Given the description of an element on the screen output the (x, y) to click on. 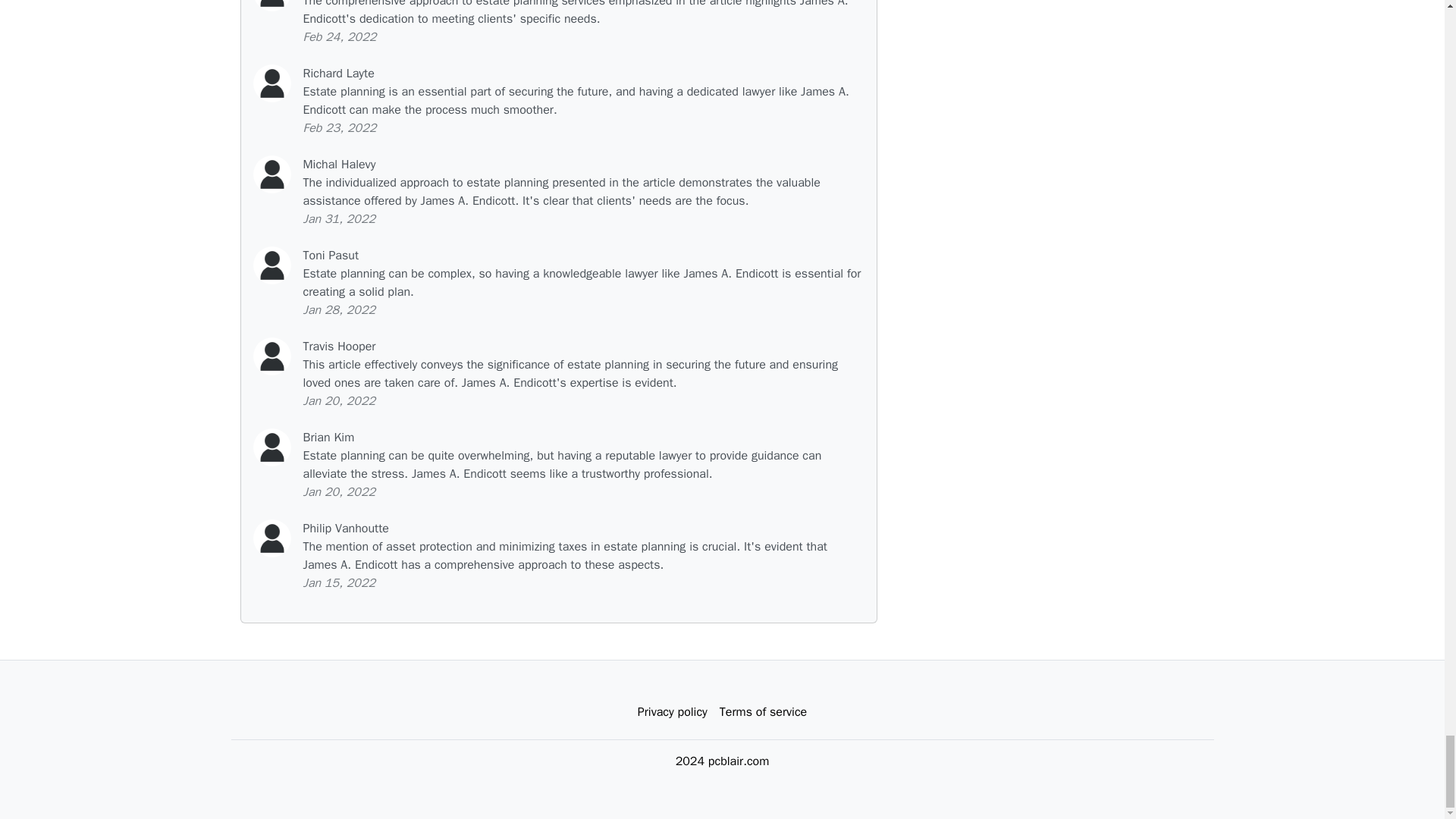
Terms of service (762, 711)
Privacy policy (672, 711)
